Given the description of an element on the screen output the (x, y) to click on. 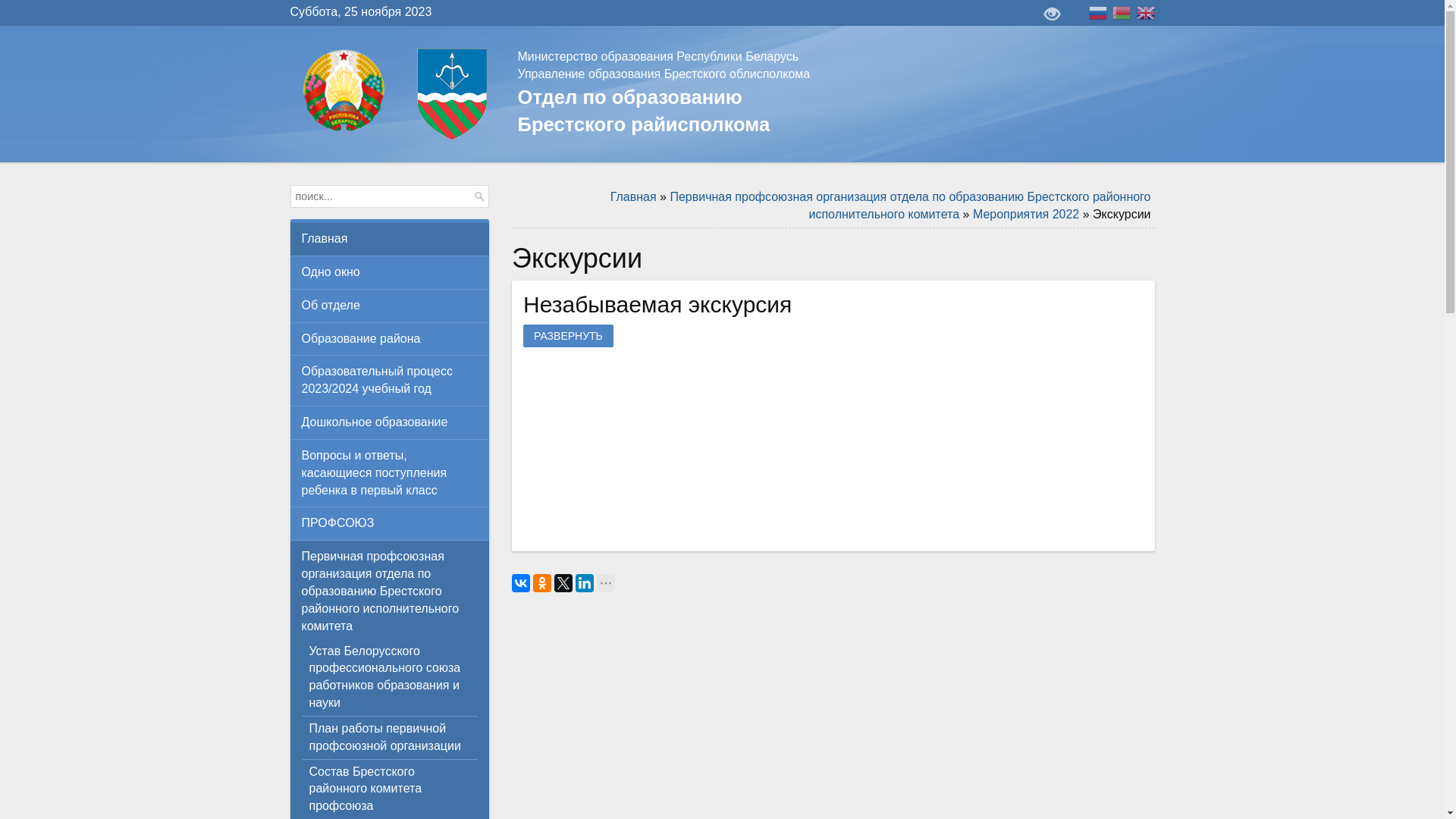
LinkedIn Element type: hover (584, 583)
Twitter Element type: hover (563, 583)
